Given the description of an element on the screen output the (x, y) to click on. 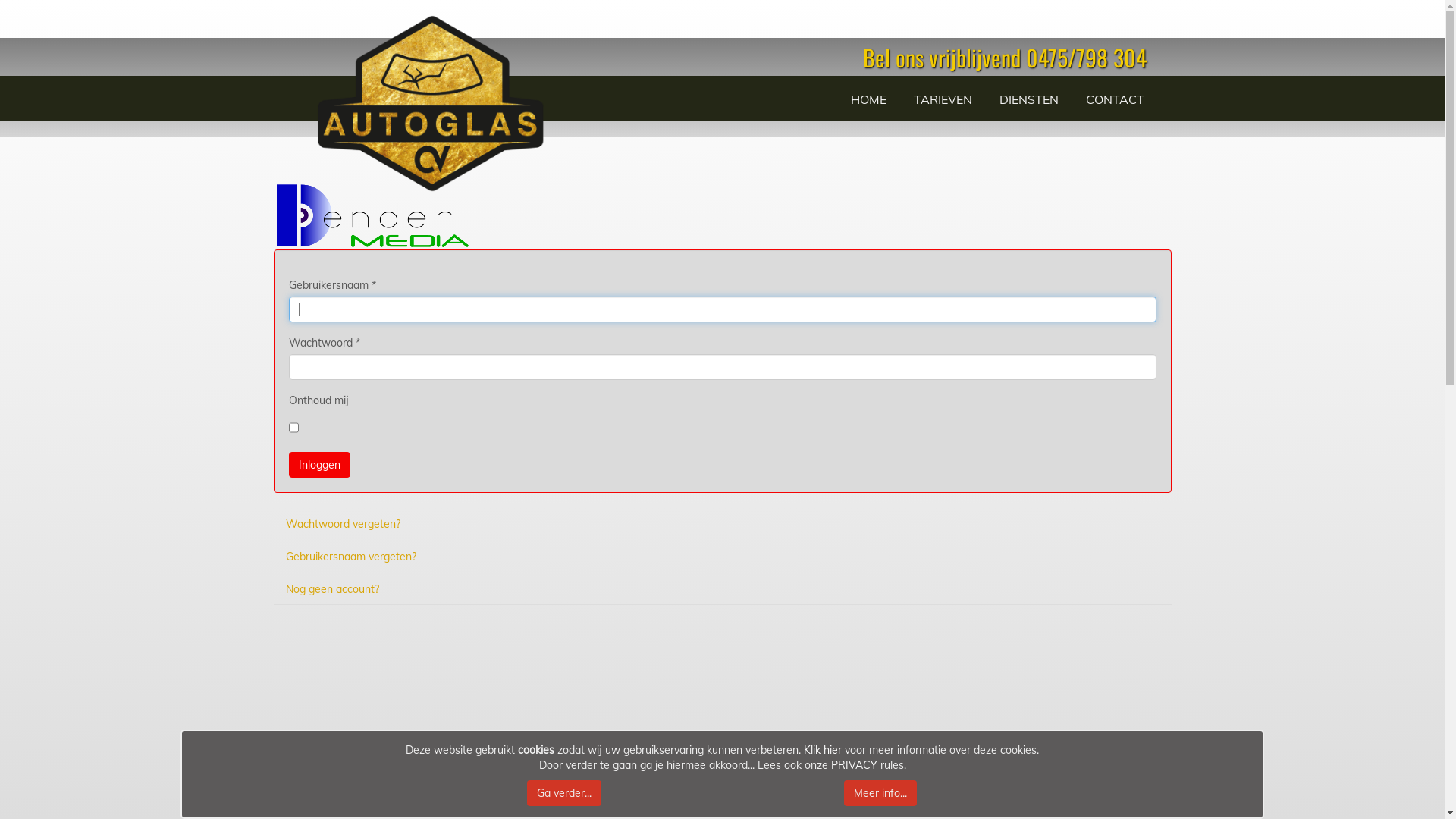
PRIVACY Element type: text (854, 764)
DIENSTEN Element type: text (1028, 99)
Wachtwoord vergeten? Element type: text (721, 523)
CONTACT Element type: text (1114, 99)
Gebruikersnaam vergeten? Element type: text (721, 556)
Bel ons vrijblijvend 0475/798 304 Element type: text (1004, 57)
HOME Element type: text (868, 99)
TARIEVEN Element type: text (942, 99)
Ga verder... Element type: text (564, 793)
Klik hier Element type: text (822, 749)
Inloggen Element type: text (318, 464)
Meer info... Element type: text (880, 793)
Nog geen account? Element type: text (721, 589)
